Given the description of an element on the screen output the (x, y) to click on. 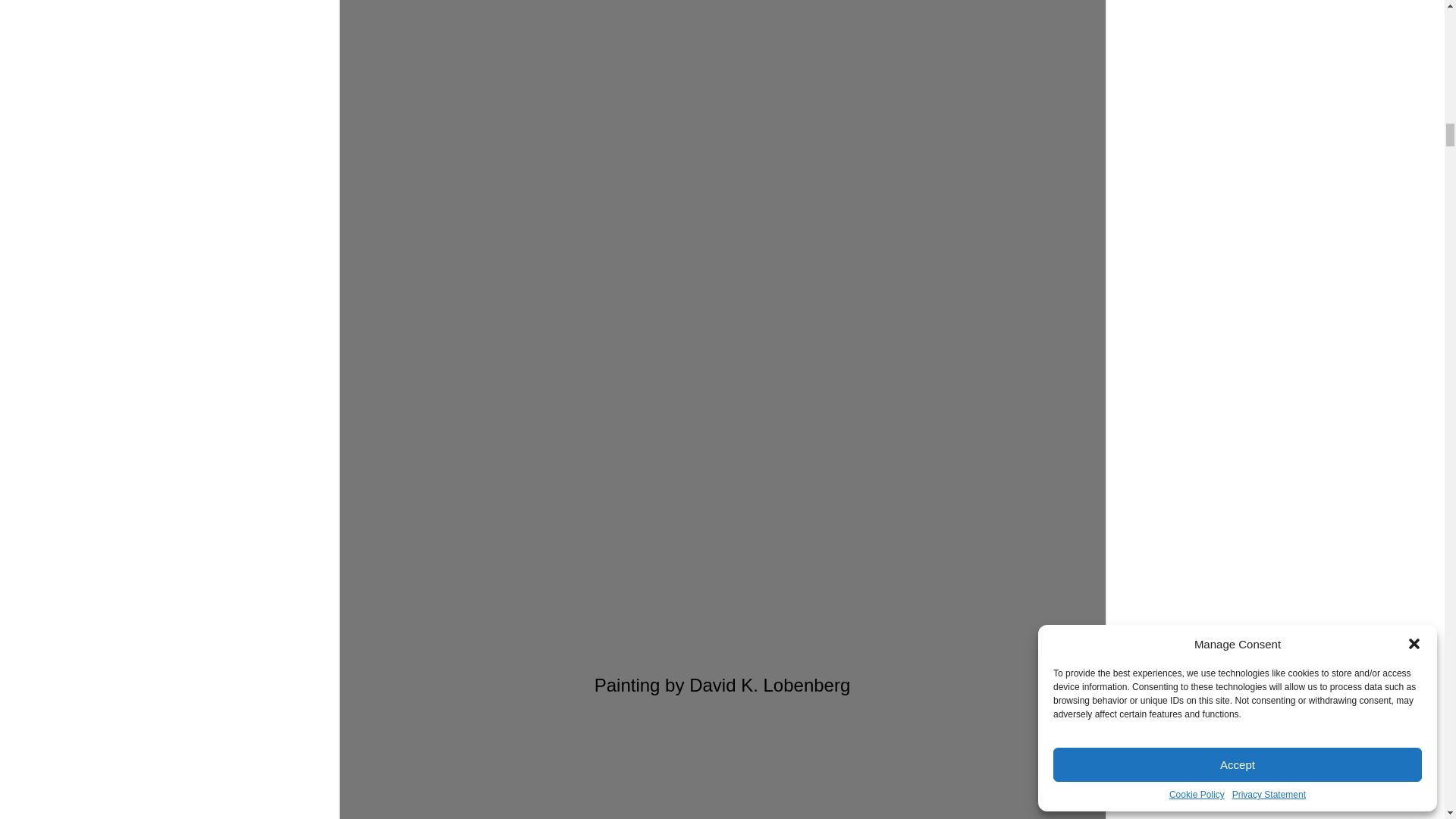
Painting by David K. Lobenberg (722, 272)
